Given the description of an element on the screen output the (x, y) to click on. 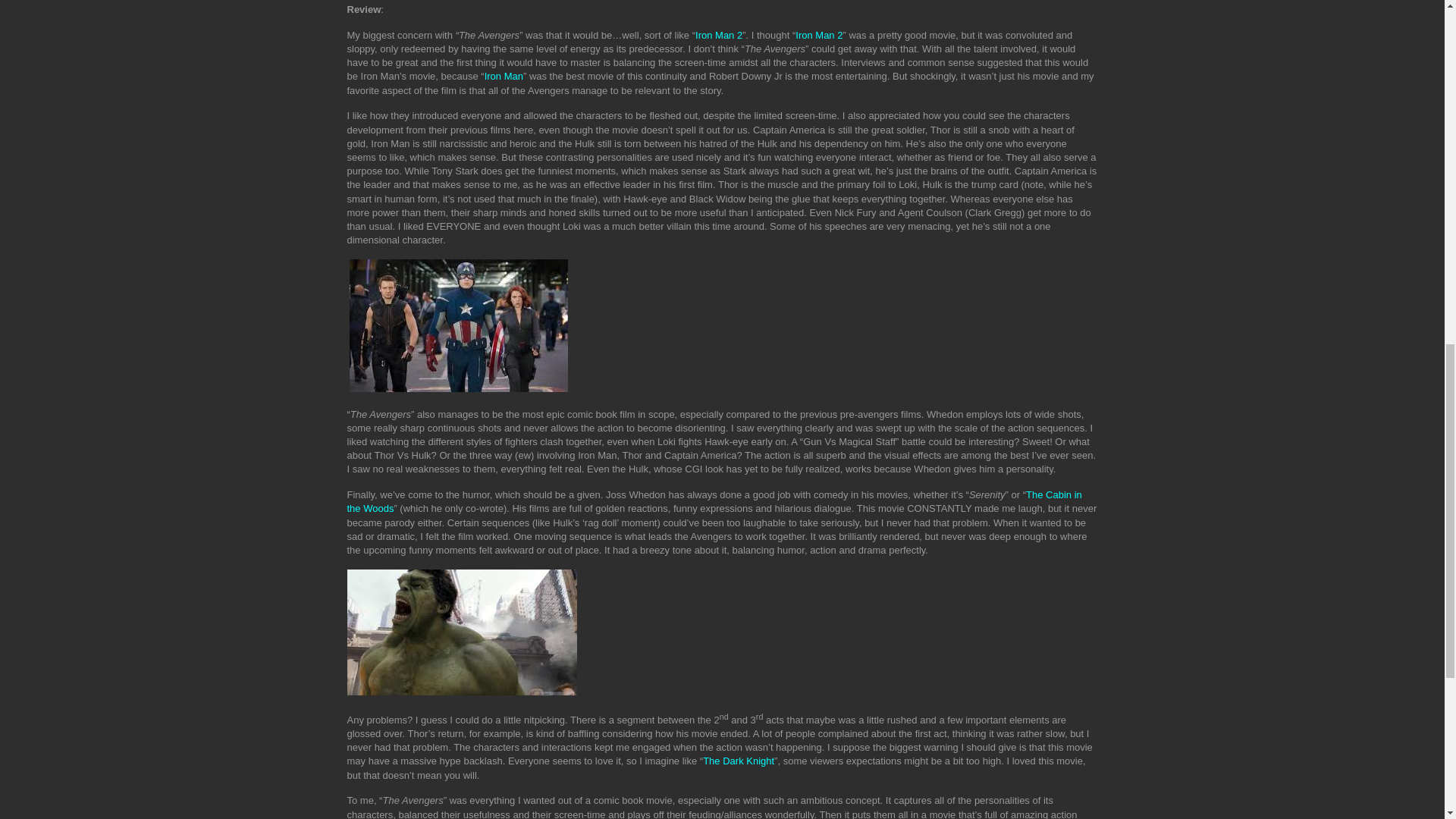
The Dark Knight (738, 760)
Iron Man 2 (818, 34)
The Cabin in the Woods (714, 501)
Iron Man (503, 75)
Avengers (458, 325)
Iron Man 2 (718, 34)
Avengers2 (461, 632)
